Given the description of an element on the screen output the (x, y) to click on. 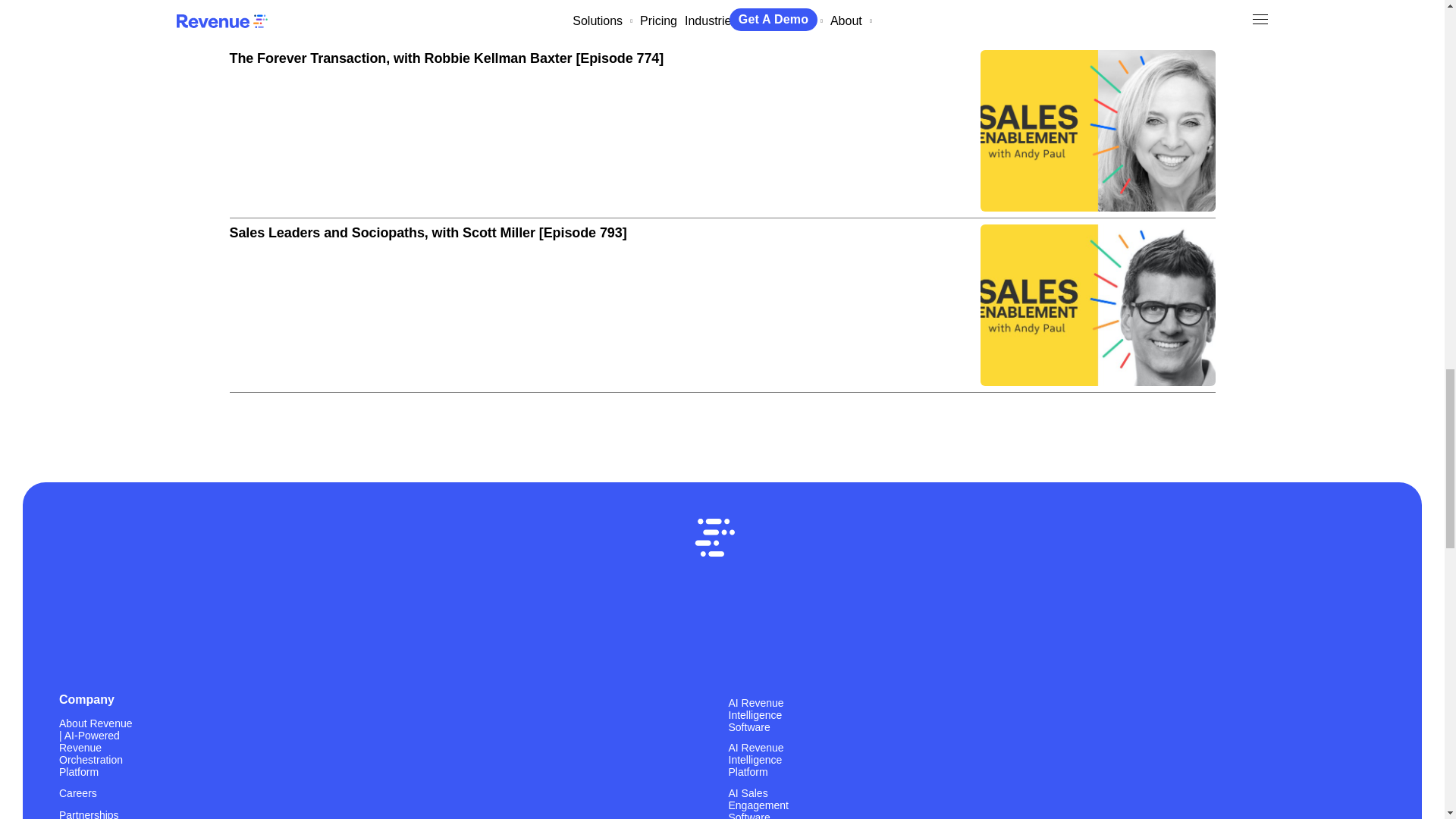
Partnerships (89, 813)
Careers (78, 792)
